Given the description of an element on the screen output the (x, y) to click on. 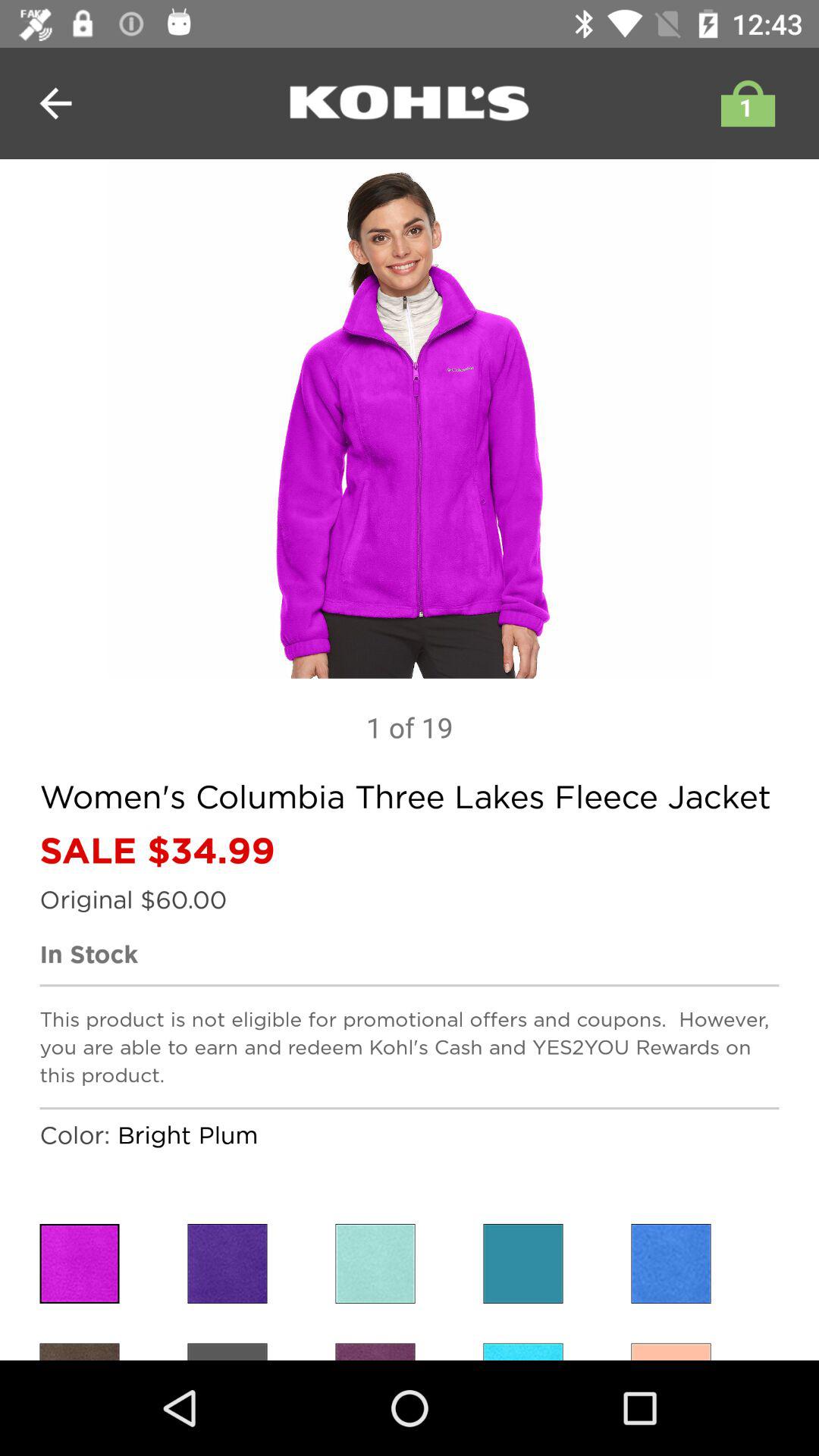
select plum color (79, 1351)
